Given the description of an element on the screen output the (x, y) to click on. 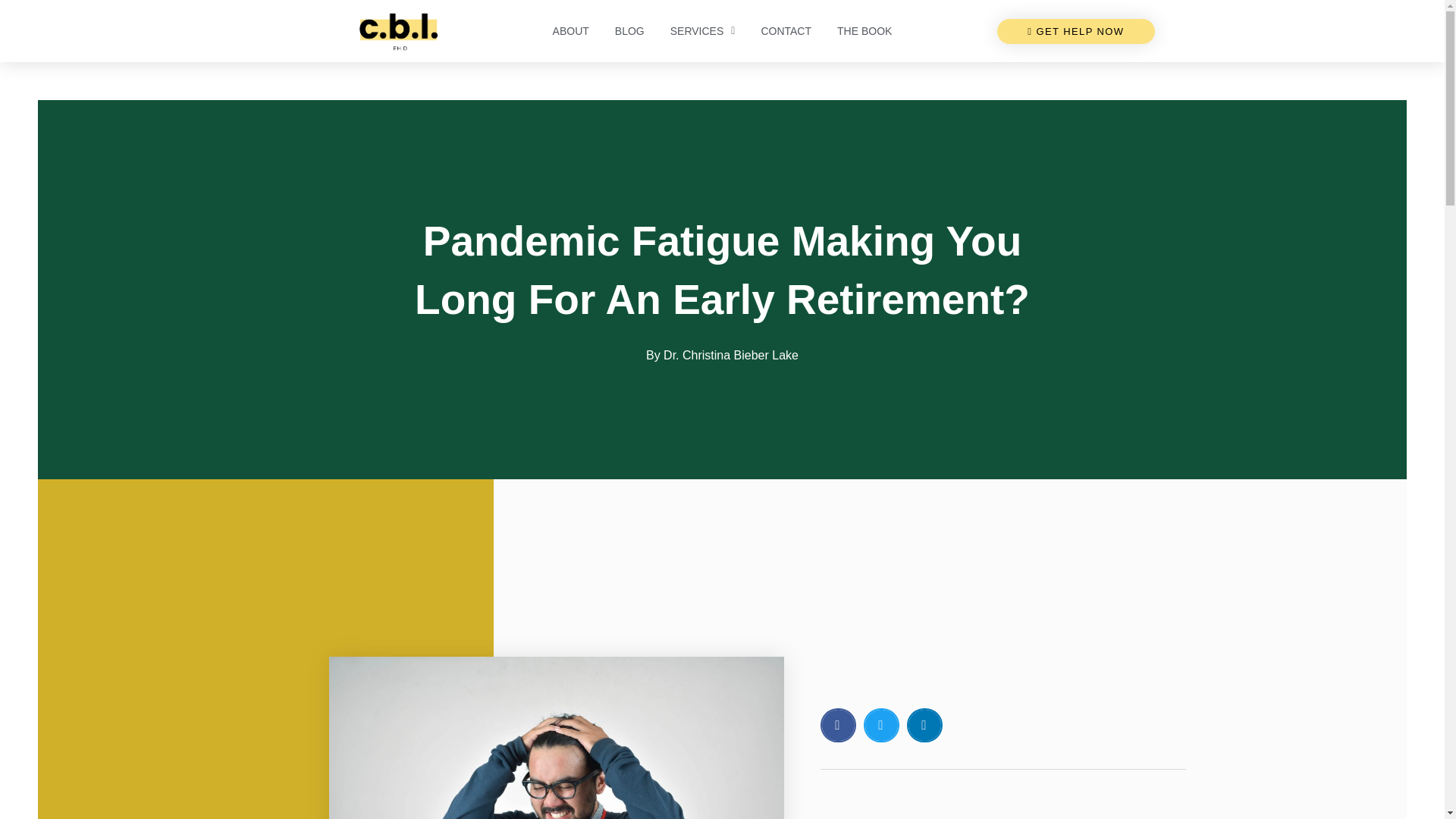
CONTACT (786, 31)
THE BOOK (864, 31)
GET HELP NOW (1075, 30)
SERVICES (703, 31)
ABOUT (571, 31)
BLOG (630, 31)
